Given the description of an element on the screen output the (x, y) to click on. 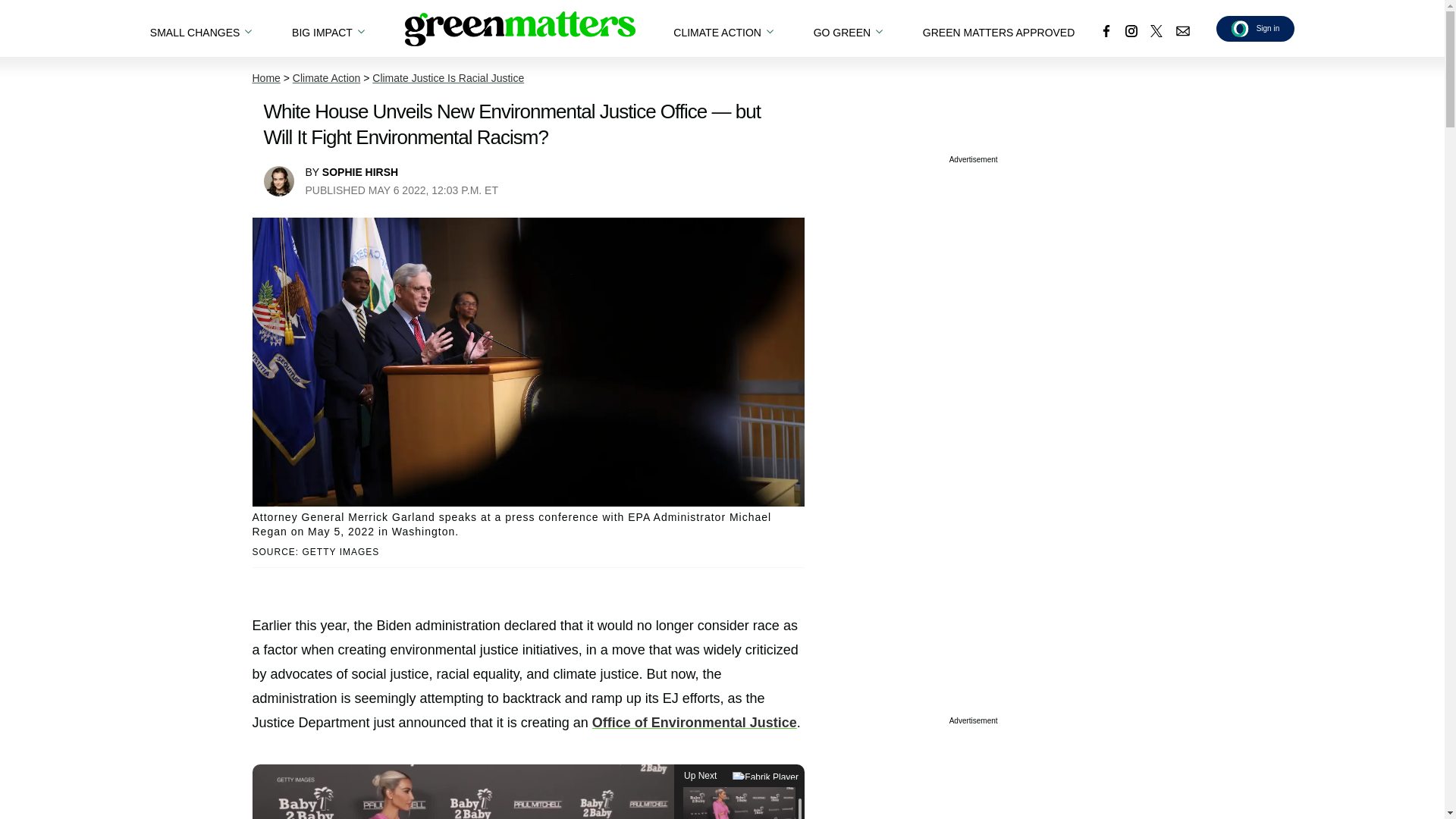
LINK TO EMAIL SUBSCRIBE (1182, 30)
Sign in (1255, 27)
LINK TO FACEBOOK (1106, 30)
LINK TO X (1155, 30)
LINK TO INSTAGRAM (1131, 30)
GREEN MATTERS APPROVED (998, 27)
OpenPass Logo (1240, 27)
